Given the description of an element on the screen output the (x, y) to click on. 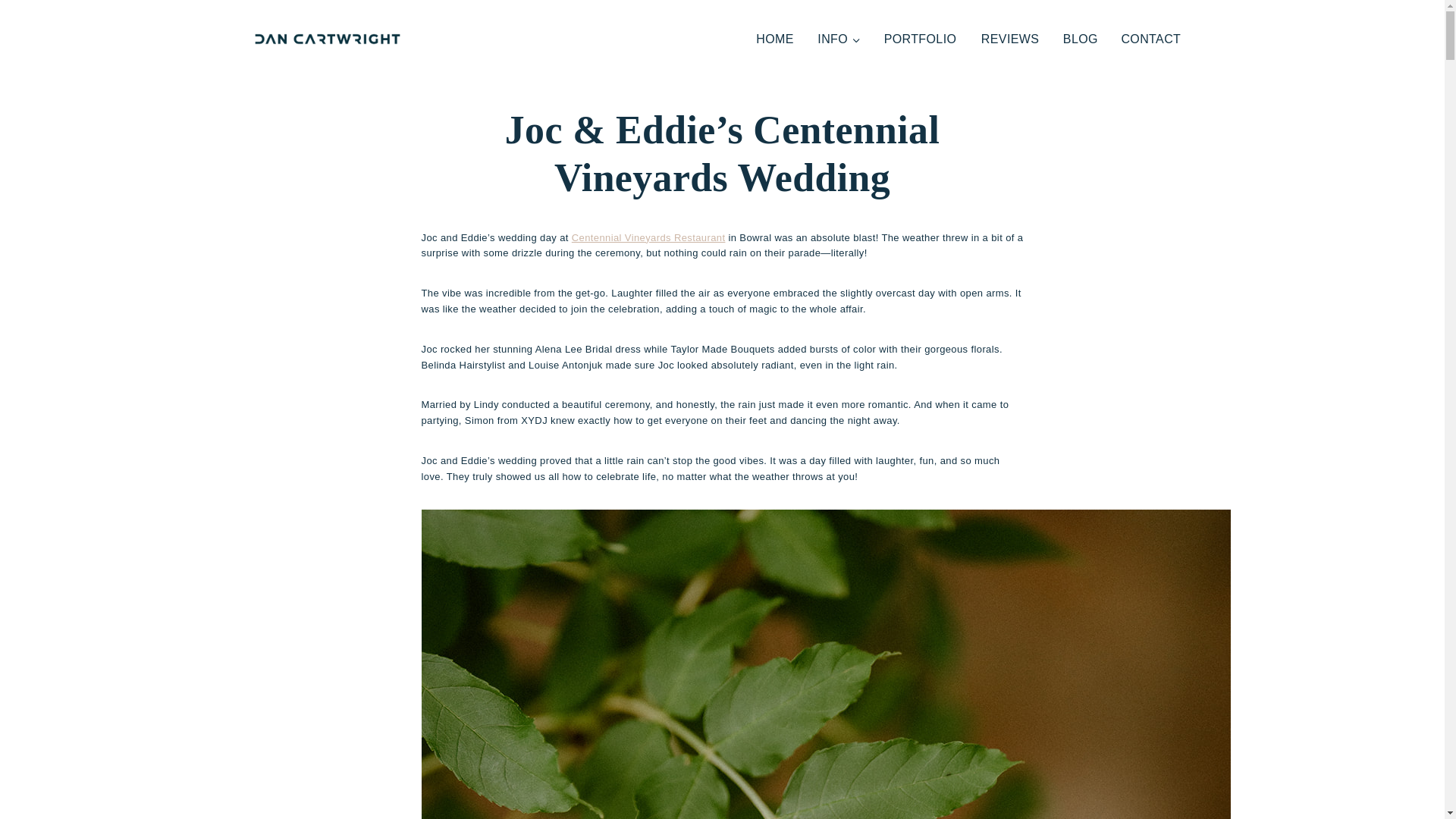
PORTFOLIO (920, 39)
CONTACT (1150, 39)
what they are saying (1010, 39)
REVIEWS (1010, 39)
Centennial Vineyards Restaurant (648, 237)
